Given the description of an element on the screen output the (x, y) to click on. 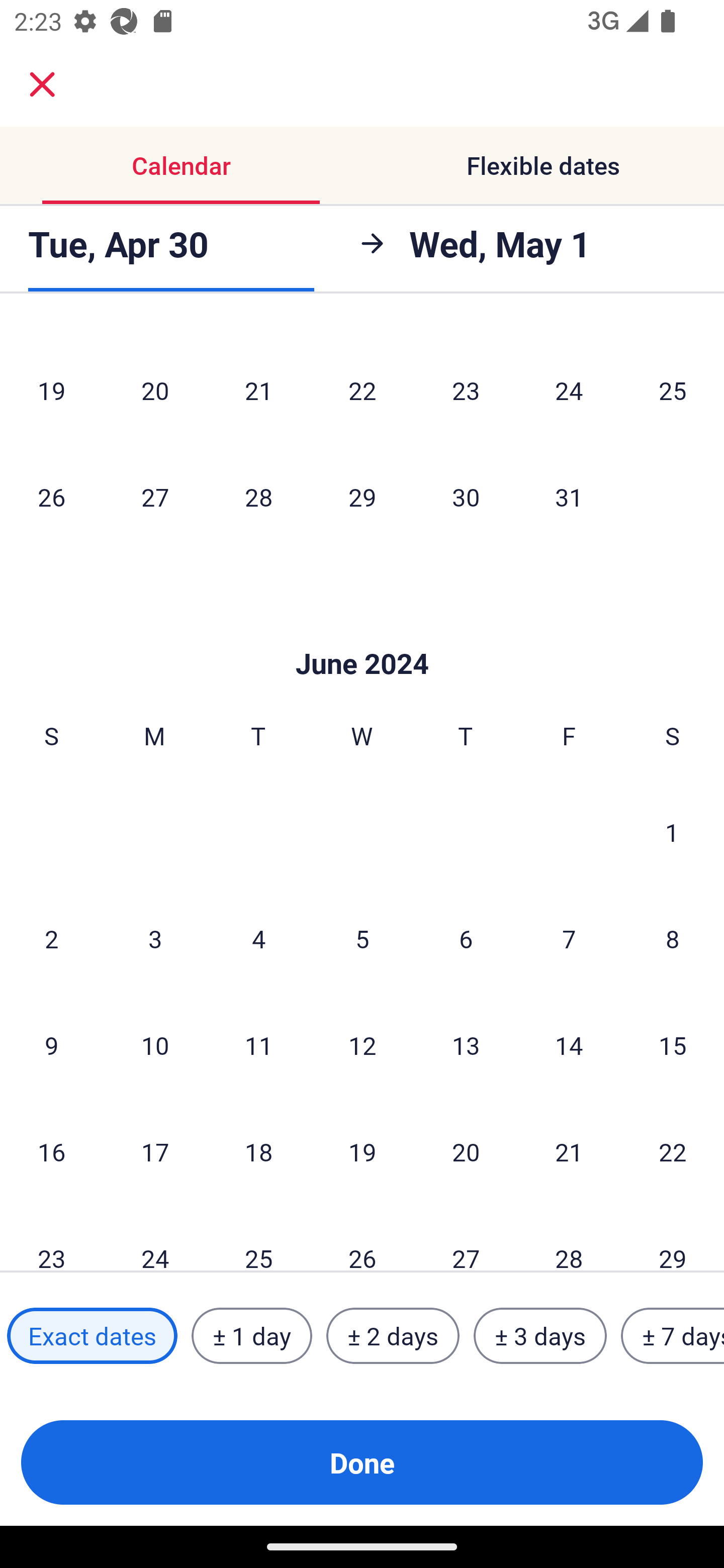
close. (42, 84)
Flexible dates (542, 164)
19 Sunday, May 19, 2024 (51, 390)
20 Monday, May 20, 2024 (155, 390)
21 Tuesday, May 21, 2024 (258, 390)
22 Wednesday, May 22, 2024 (362, 390)
23 Thursday, May 23, 2024 (465, 390)
24 Friday, May 24, 2024 (569, 390)
25 Saturday, May 25, 2024 (672, 390)
26 Sunday, May 26, 2024 (51, 496)
27 Monday, May 27, 2024 (155, 496)
28 Tuesday, May 28, 2024 (258, 496)
29 Wednesday, May 29, 2024 (362, 496)
30 Thursday, May 30, 2024 (465, 496)
31 Friday, May 31, 2024 (569, 496)
Skip to Done (362, 633)
1 Saturday, June 1, 2024 (672, 831)
2 Sunday, June 2, 2024 (51, 938)
3 Monday, June 3, 2024 (155, 938)
4 Tuesday, June 4, 2024 (258, 938)
5 Wednesday, June 5, 2024 (362, 938)
6 Thursday, June 6, 2024 (465, 938)
7 Friday, June 7, 2024 (569, 938)
8 Saturday, June 8, 2024 (672, 938)
9 Sunday, June 9, 2024 (51, 1045)
10 Monday, June 10, 2024 (155, 1045)
11 Tuesday, June 11, 2024 (258, 1045)
12 Wednesday, June 12, 2024 (362, 1045)
13 Thursday, June 13, 2024 (465, 1045)
14 Friday, June 14, 2024 (569, 1045)
15 Saturday, June 15, 2024 (672, 1045)
16 Sunday, June 16, 2024 (51, 1151)
17 Monday, June 17, 2024 (155, 1151)
18 Tuesday, June 18, 2024 (258, 1151)
19 Wednesday, June 19, 2024 (362, 1151)
20 Thursday, June 20, 2024 (465, 1151)
21 Friday, June 21, 2024 (569, 1151)
22 Saturday, June 22, 2024 (672, 1151)
23 Sunday, June 23, 2024 (51, 1238)
24 Monday, June 24, 2024 (155, 1238)
25 Tuesday, June 25, 2024 (258, 1238)
26 Wednesday, June 26, 2024 (362, 1238)
27 Thursday, June 27, 2024 (465, 1238)
28 Friday, June 28, 2024 (569, 1238)
29 Saturday, June 29, 2024 (672, 1238)
Exact dates (92, 1335)
± 1 day (251, 1335)
± 2 days (392, 1335)
± 3 days (539, 1335)
± 7 days (672, 1335)
Done (361, 1462)
